Given the description of an element on the screen output the (x, y) to click on. 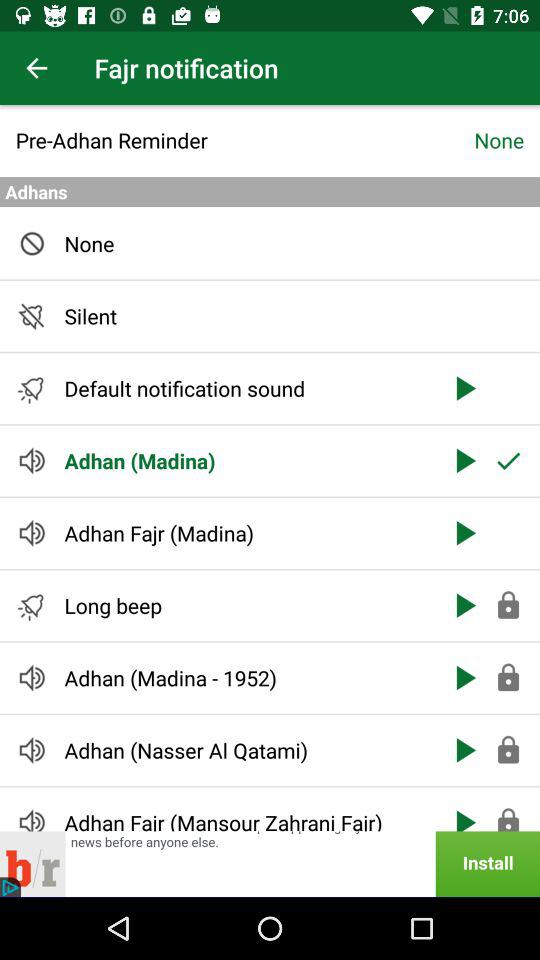
click the long beep (245, 605)
